Given the description of an element on the screen output the (x, y) to click on. 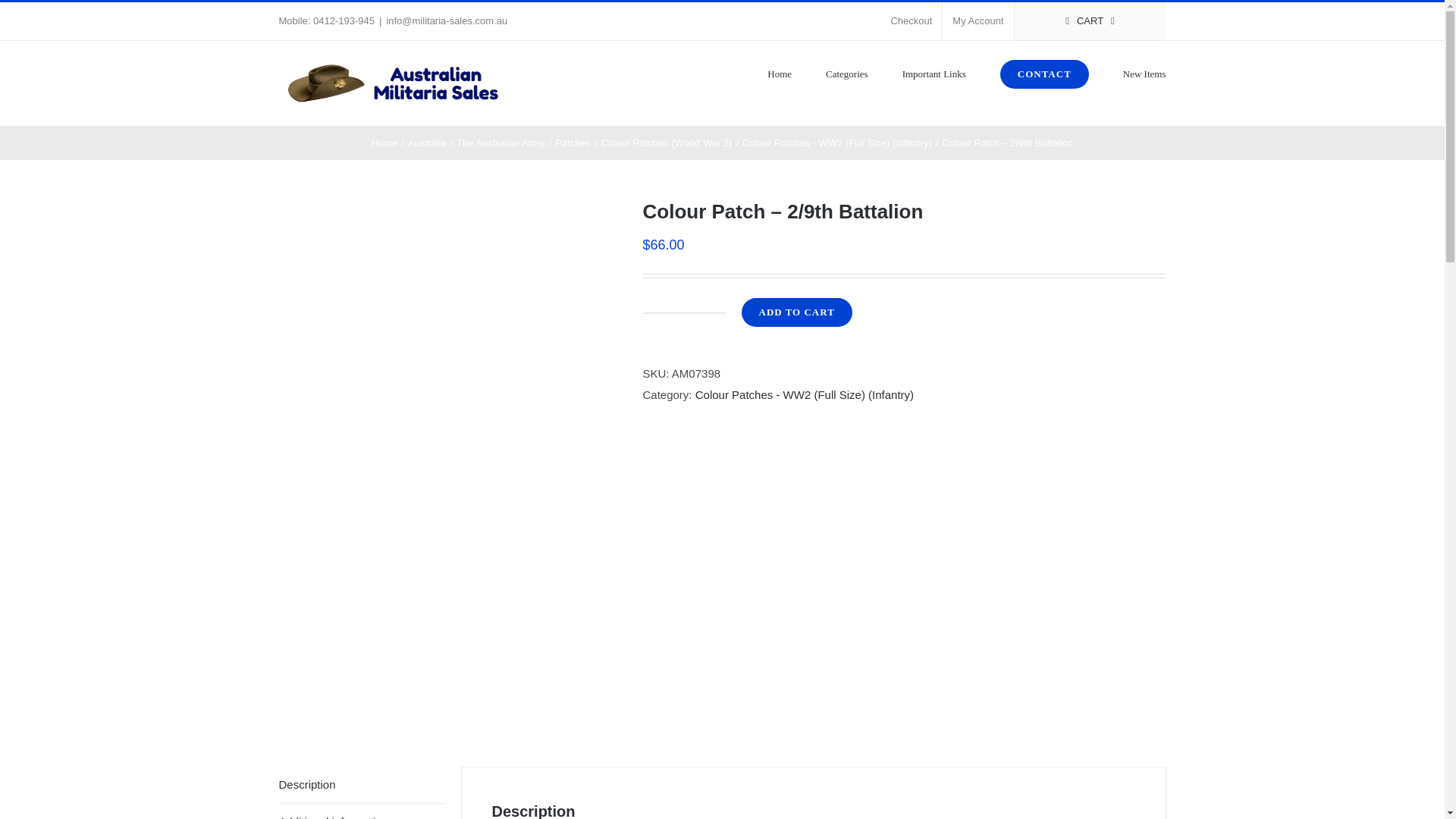
Log In (1044, 165)
Checkout (911, 21)
Important Links (934, 72)
My Account (977, 21)
CART (1090, 21)
CONTACT (1044, 72)
Patches (572, 142)
Australia (426, 142)
The Australian Army (500, 142)
Home (384, 142)
